Given the description of an element on the screen output the (x, y) to click on. 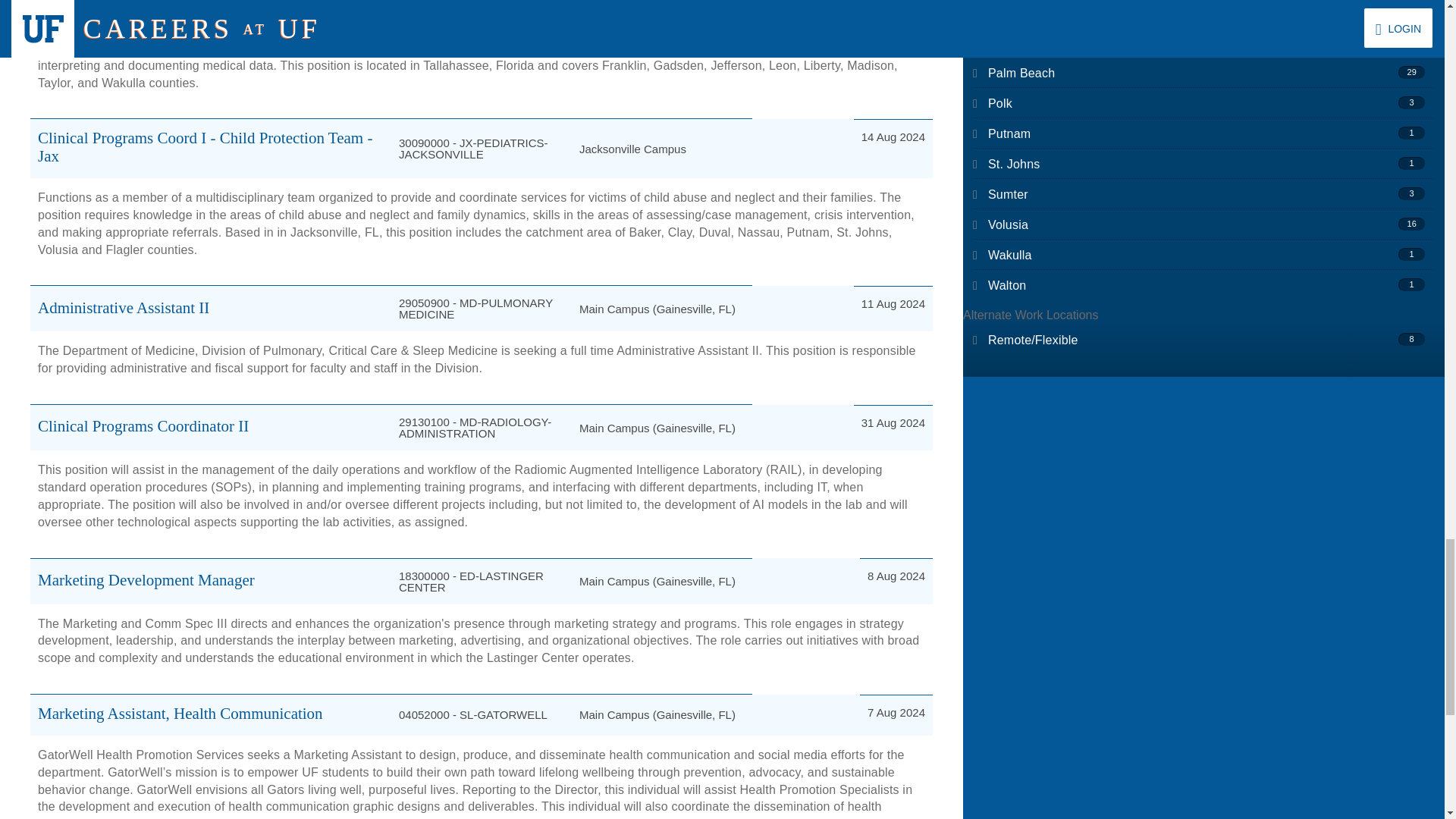
Clinical Programs Coord I - Child Protection Team - Jax (204, 146)
